Given the description of an element on the screen output the (x, y) to click on. 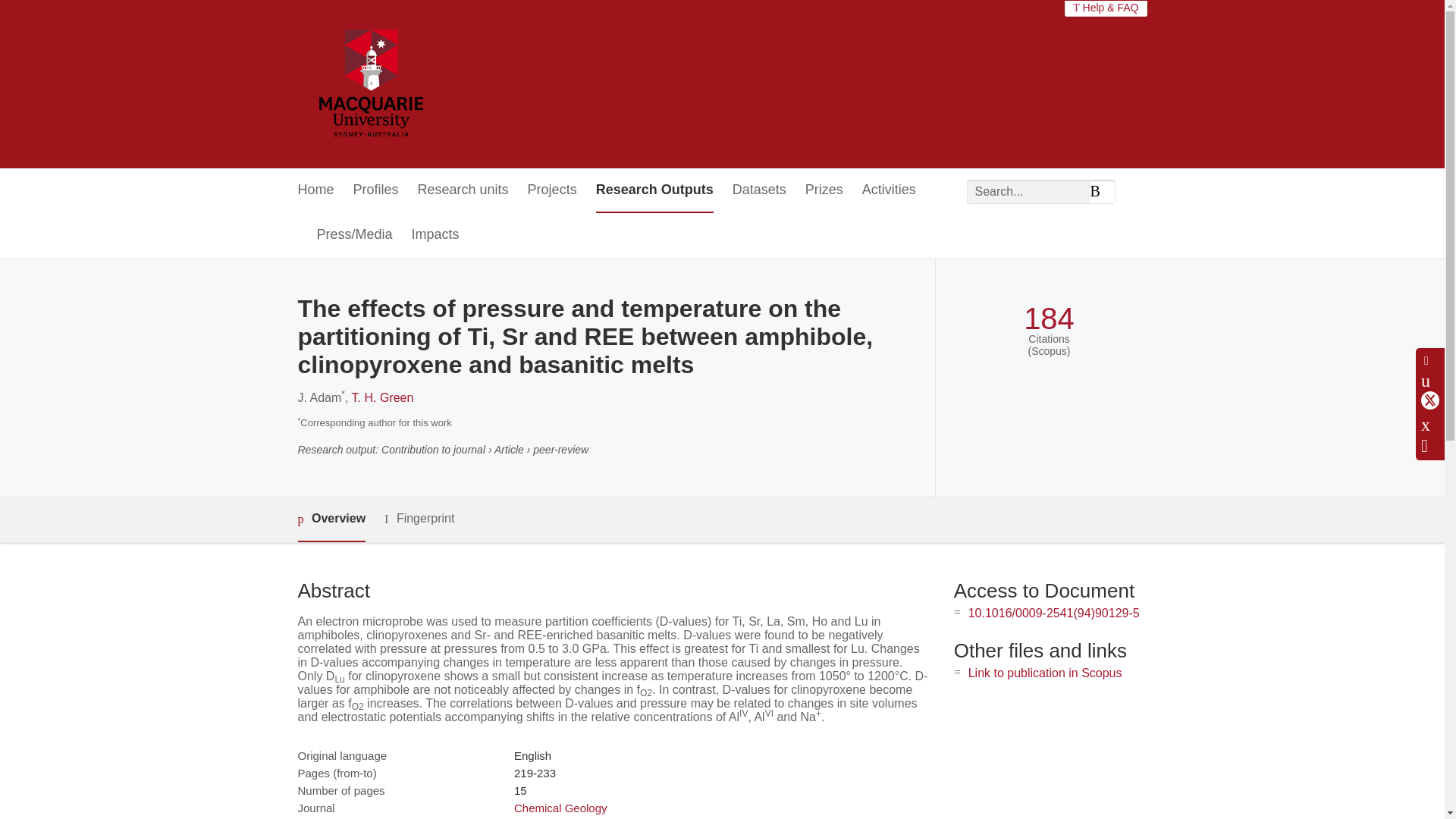
Macquarie University Home (369, 84)
Profiles (375, 190)
Projects (551, 190)
Overview (331, 519)
184 (1048, 318)
Impacts (436, 234)
Research Outputs (654, 190)
T. H. Green (382, 397)
Datasets (759, 190)
Chemical Geology (560, 807)
